Given the description of an element on the screen output the (x, y) to click on. 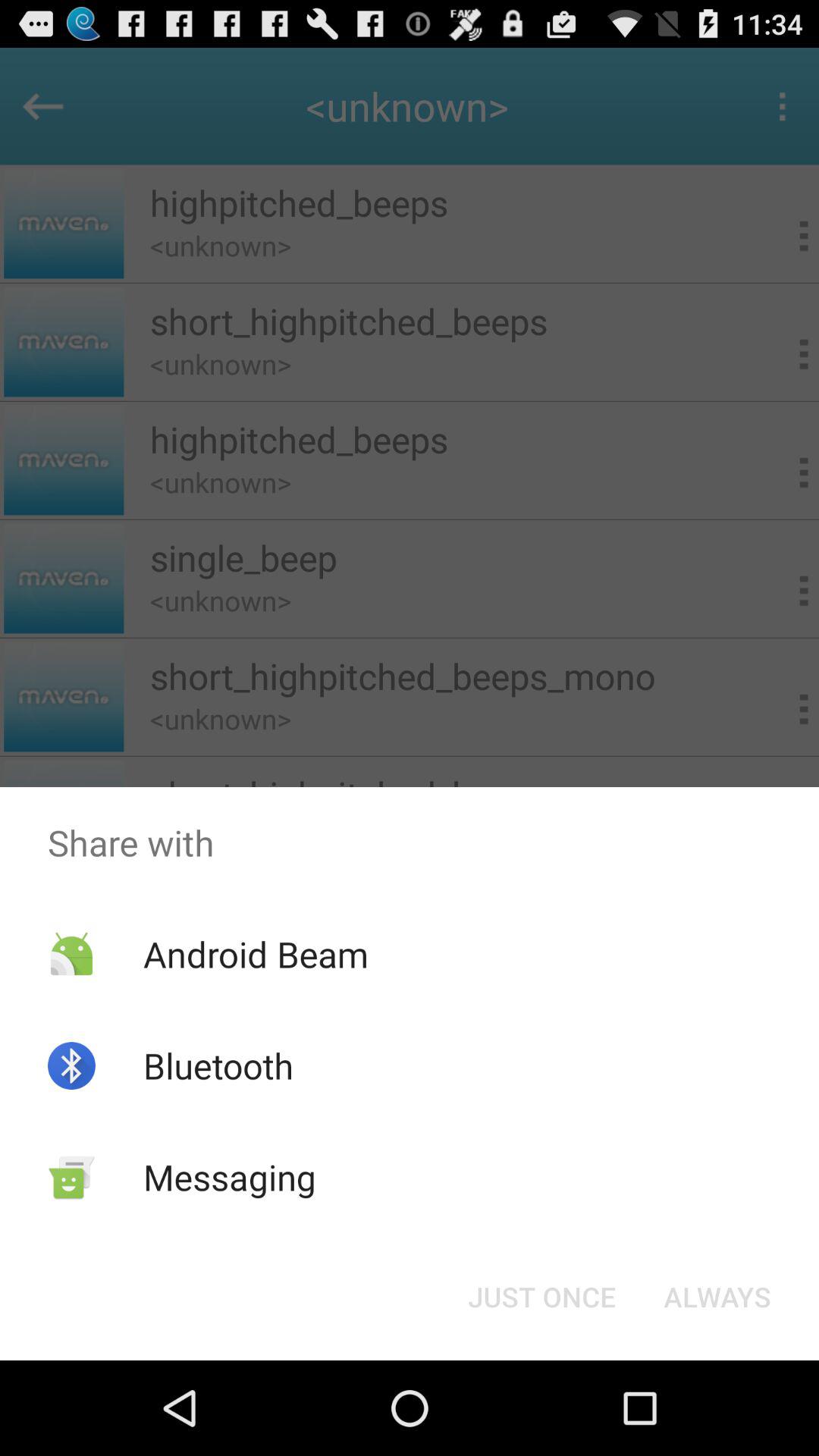
swipe until the messaging icon (229, 1176)
